Given the description of an element on the screen output the (x, y) to click on. 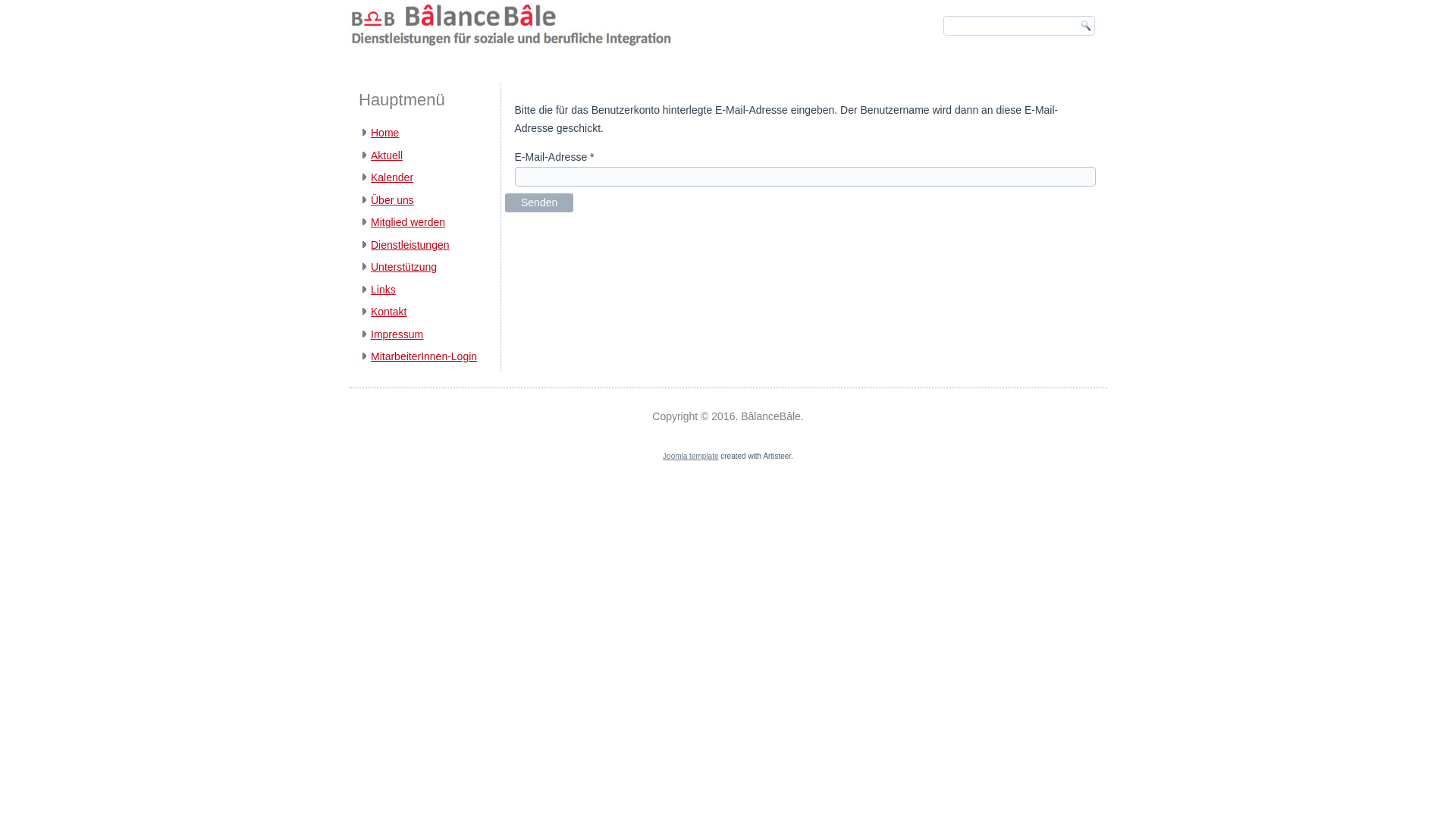
Joomla template Element type: text (690, 455)
MitarbeiterInnen-Login Element type: text (423, 356)
Kontakt Element type: text (388, 311)
Home Element type: text (384, 132)
Dienstleistungen Element type: text (409, 244)
Impressum Element type: text (396, 334)
Mitglied werden Element type: text (407, 222)
Kalender Element type: text (391, 177)
Links Element type: text (382, 289)
Aktuell Element type: text (386, 155)
Senden Element type: text (539, 202)
